Given the description of an element on the screen output the (x, y) to click on. 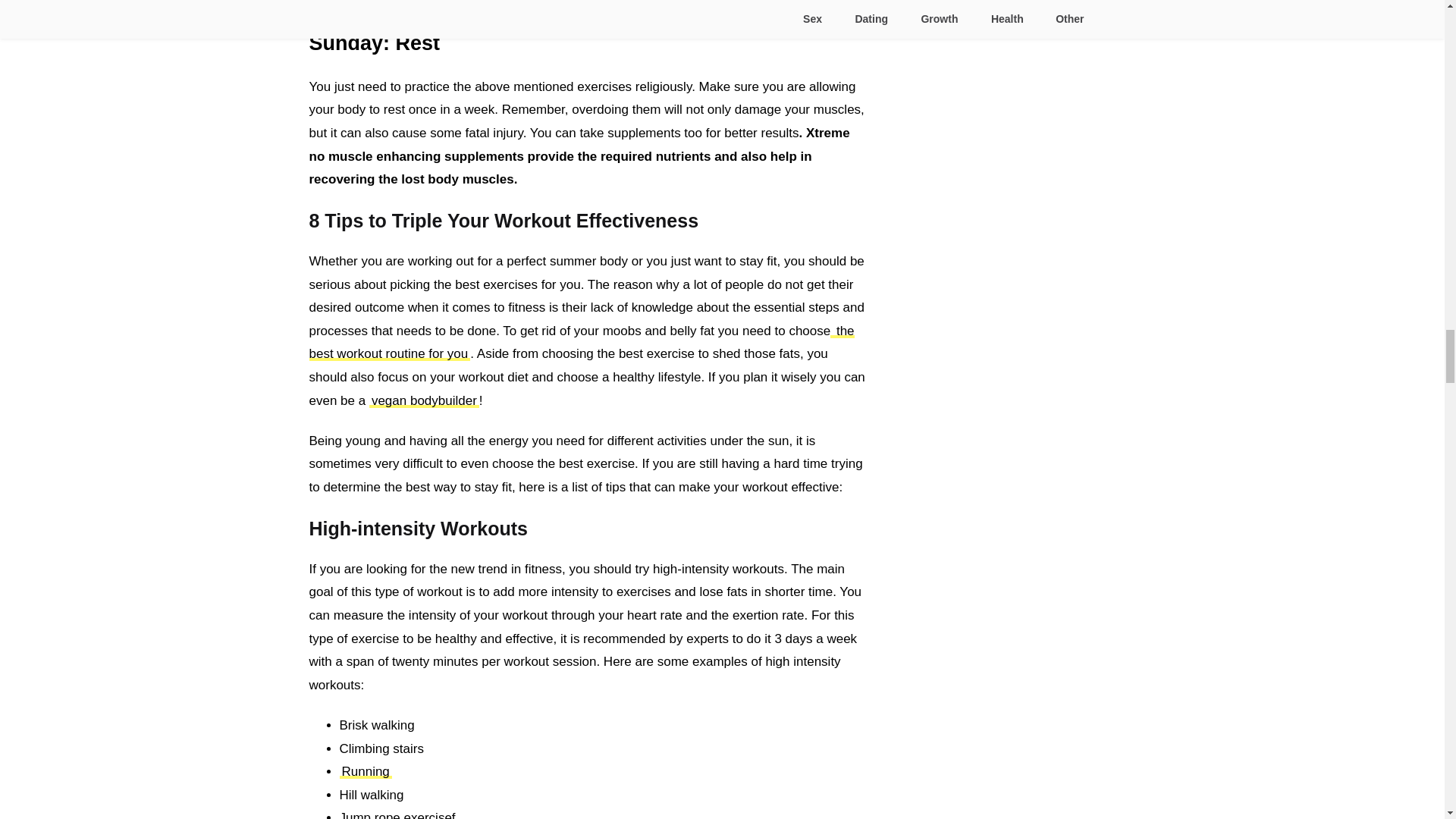
the best workout routine for you (581, 342)
vegan bodybuilder (424, 400)
Running (365, 771)
